Given the description of an element on the screen output the (x, y) to click on. 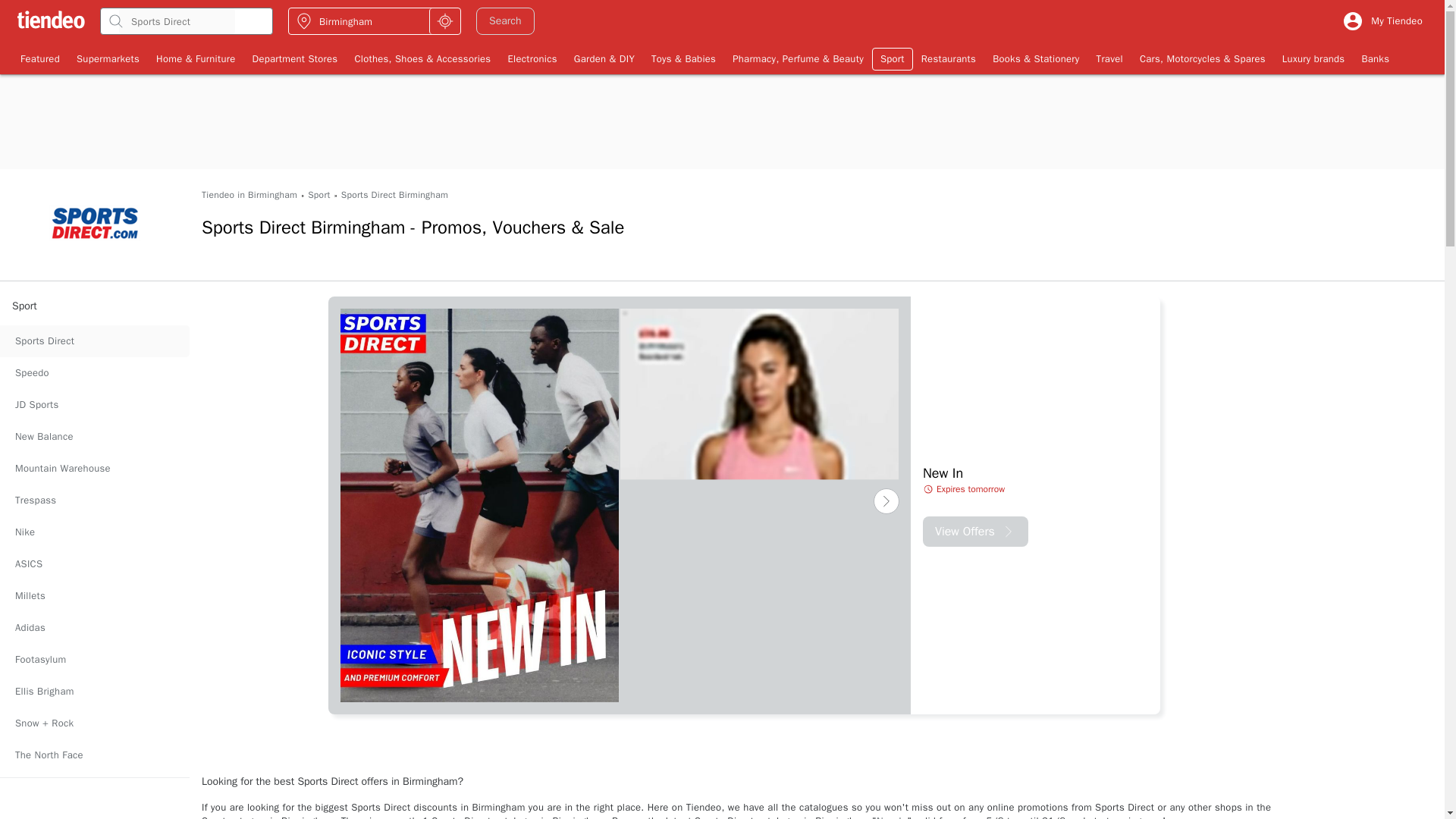
Restaurants (948, 58)
Department Stores (295, 58)
Ellis Brigham (94, 691)
Tiendeo in Birmingham (249, 195)
Sports Direct Birmingham (394, 195)
Search (505, 21)
JD Sports (94, 404)
Travel (1109, 58)
Sport (892, 58)
Sport (318, 195)
